Given the description of an element on the screen output the (x, y) to click on. 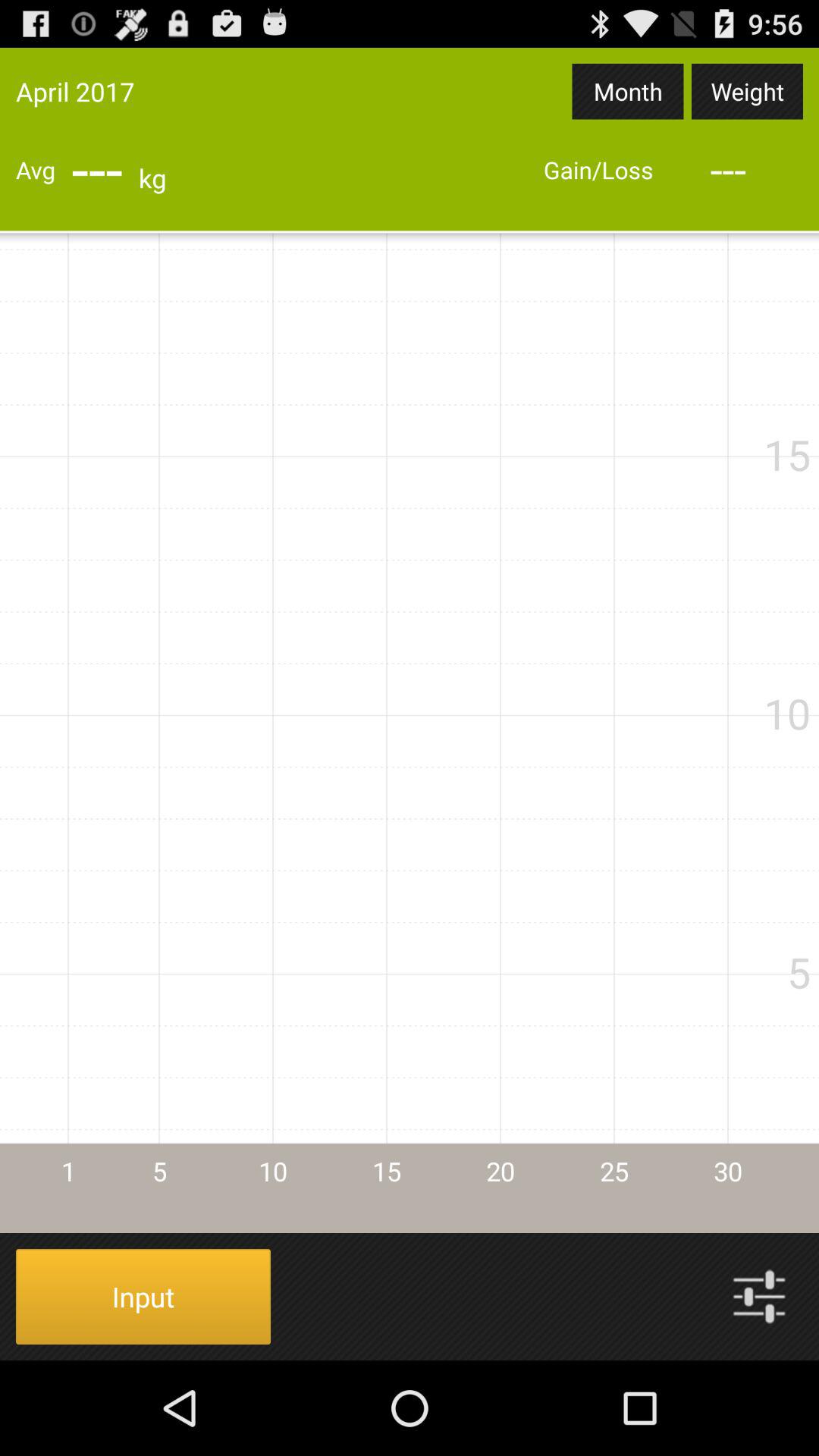
launch item to the right of input (759, 1296)
